Given the description of an element on the screen output the (x, y) to click on. 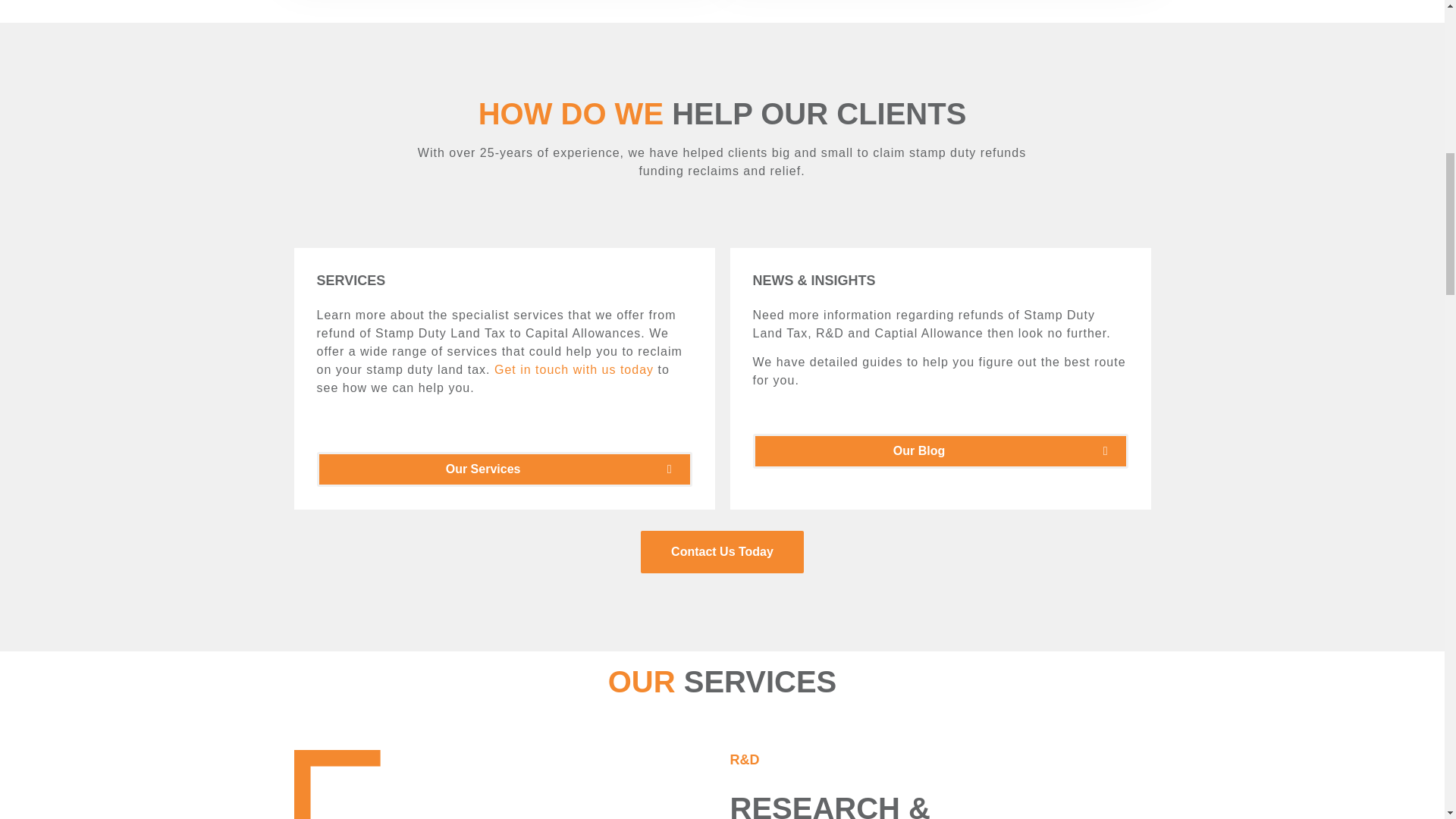
Our Services (505, 469)
Our Blog (939, 451)
Get in touch with us today (574, 369)
Contact Us Today (722, 551)
